Given the description of an element on the screen output the (x, y) to click on. 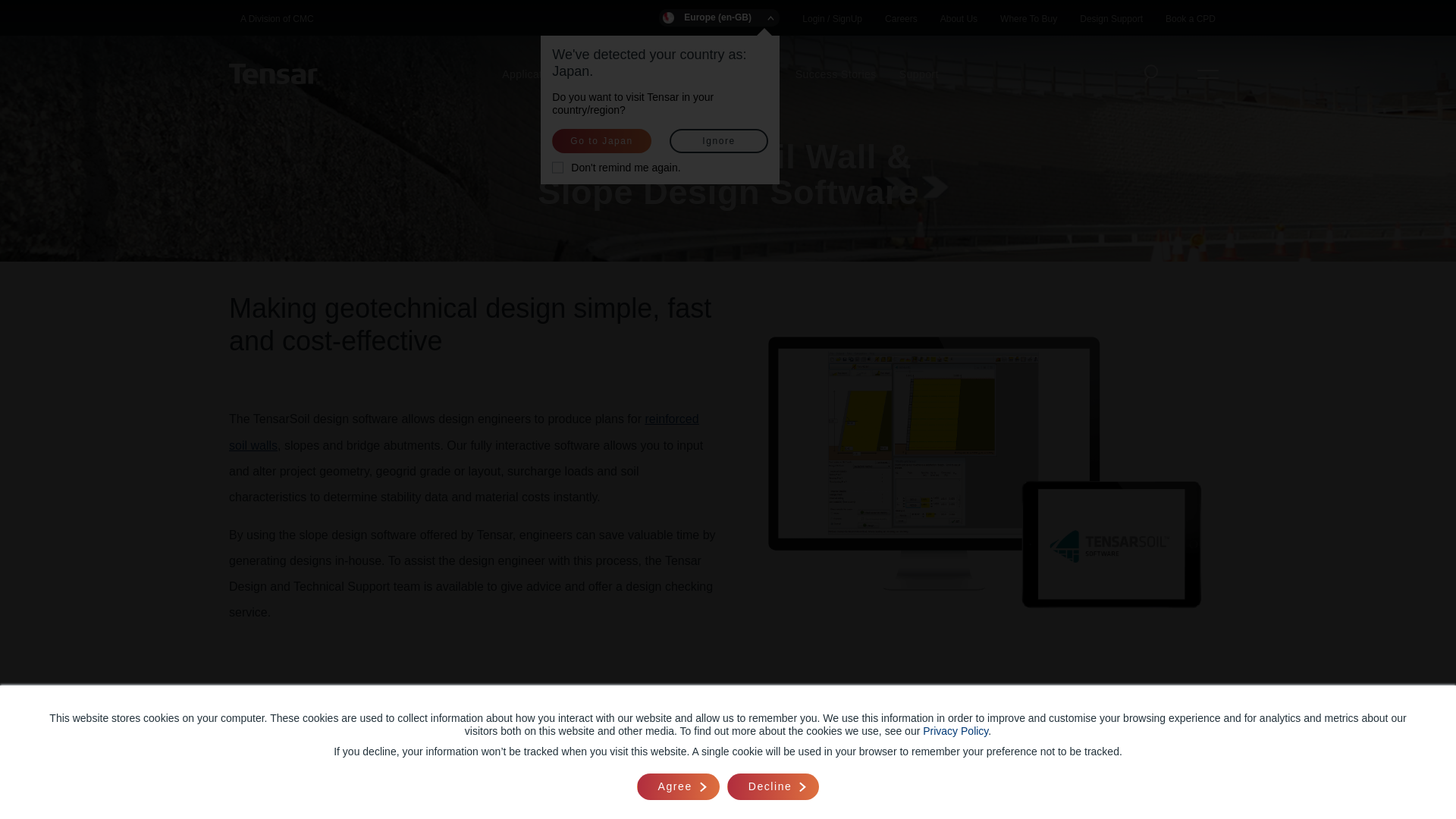
A Division of CMC (277, 18)
Agree (678, 786)
Decline (772, 786)
Privacy Policy (955, 730)
Go to Japan (600, 140)
